Given the description of an element on the screen output the (x, y) to click on. 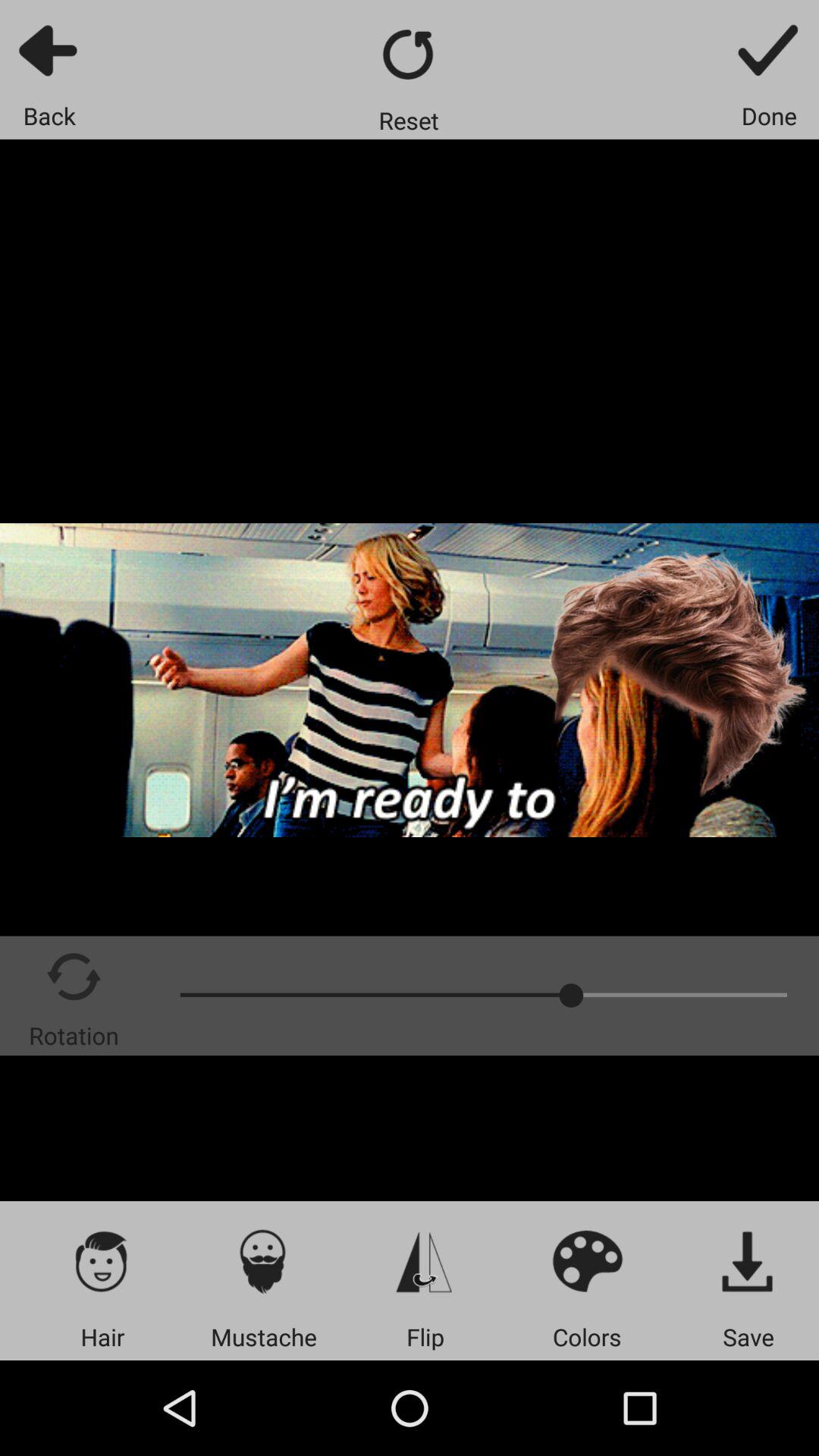
mirror the image (425, 1260)
